Given the description of an element on the screen output the (x, y) to click on. 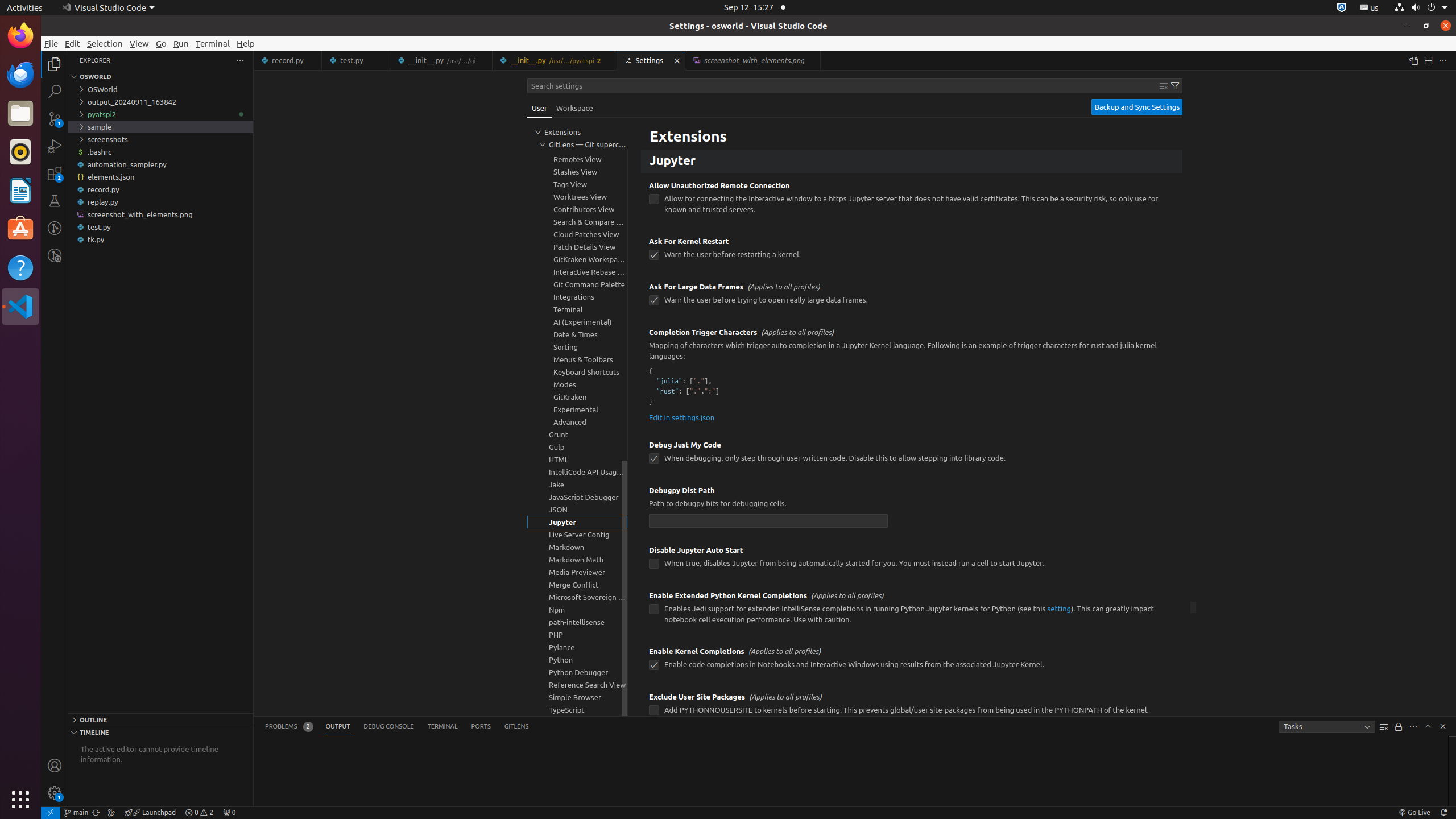
jupyter.disableJupyterAutoStart Element type: check-box (653, 563)
Show the GitLens Commit Graph Element type: push-button (111, 812)
GitKraken, group Element type: tree-item (577, 396)
GitLens Element type: page-tab (516, 726)
